Given the description of an element on the screen output the (x, y) to click on. 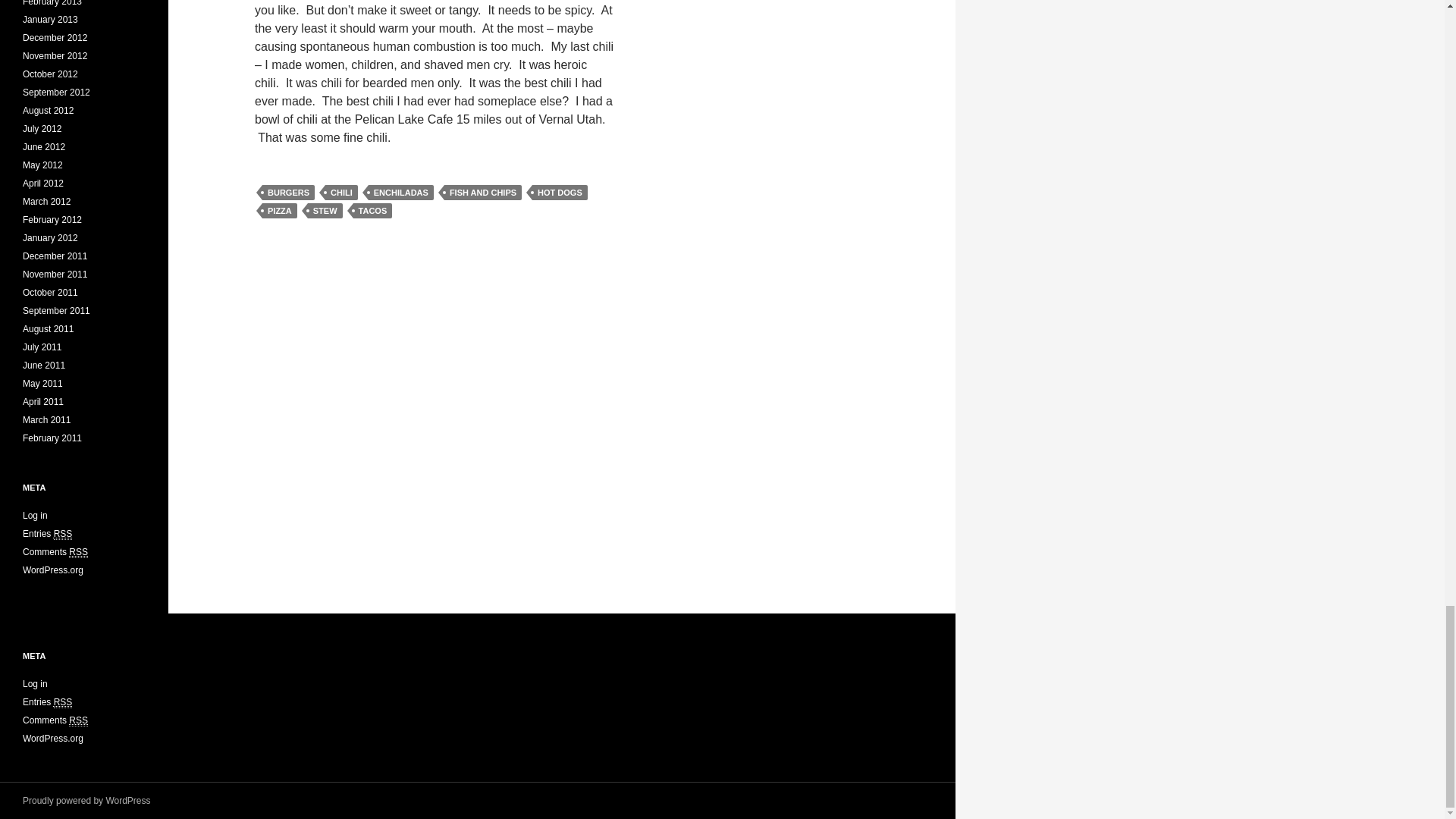
ENCHILADAS (400, 192)
STEW (324, 210)
Really Simple Syndication (77, 552)
PIZZA (279, 210)
BURGERS (288, 192)
Really Simple Syndication (62, 702)
Really Simple Syndication (62, 533)
Really Simple Syndication (77, 720)
